Given the description of an element on the screen output the (x, y) to click on. 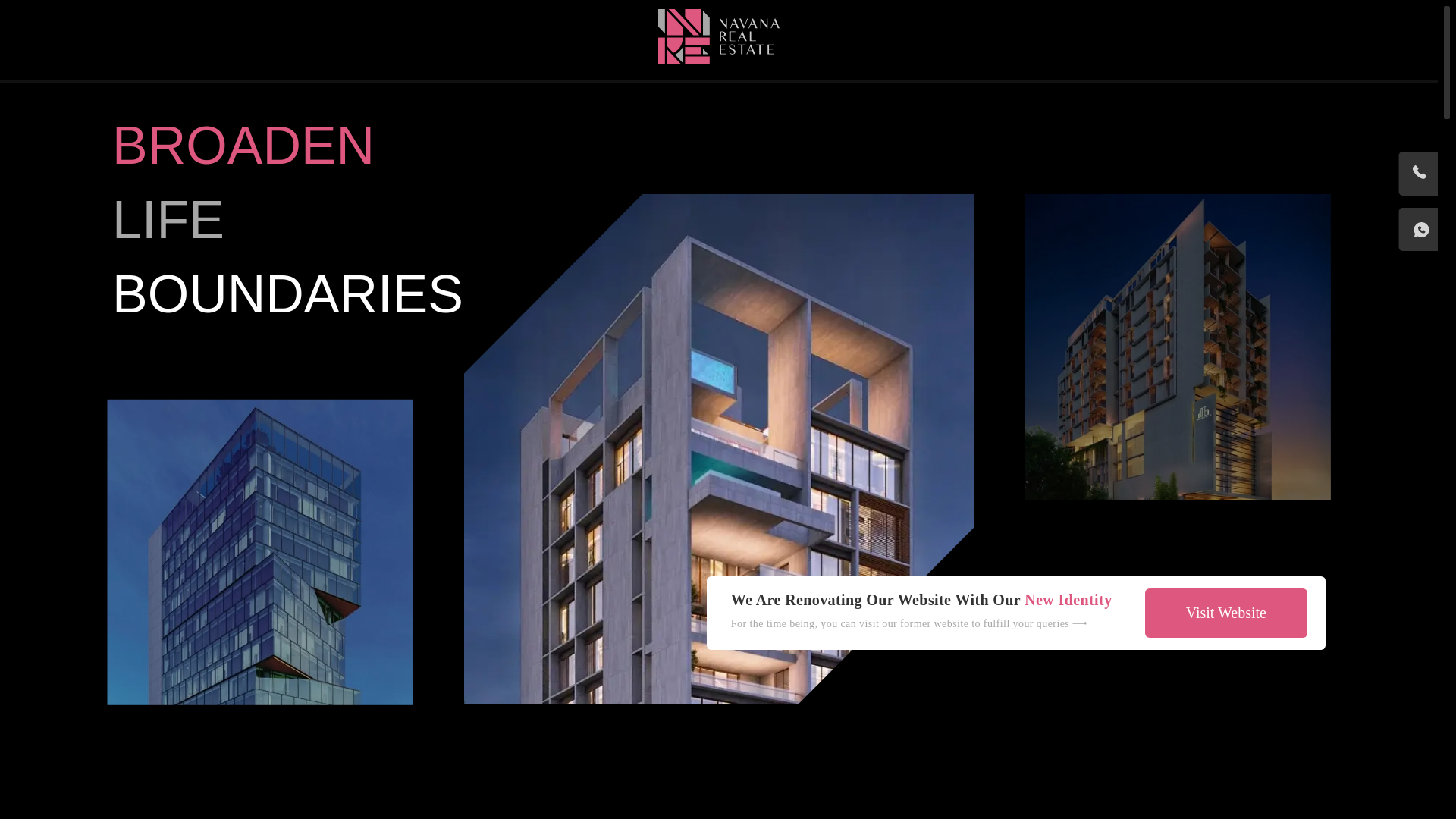
Visit Website (1225, 613)
Visit Website (1219, 613)
